Given the description of an element on the screen output the (x, y) to click on. 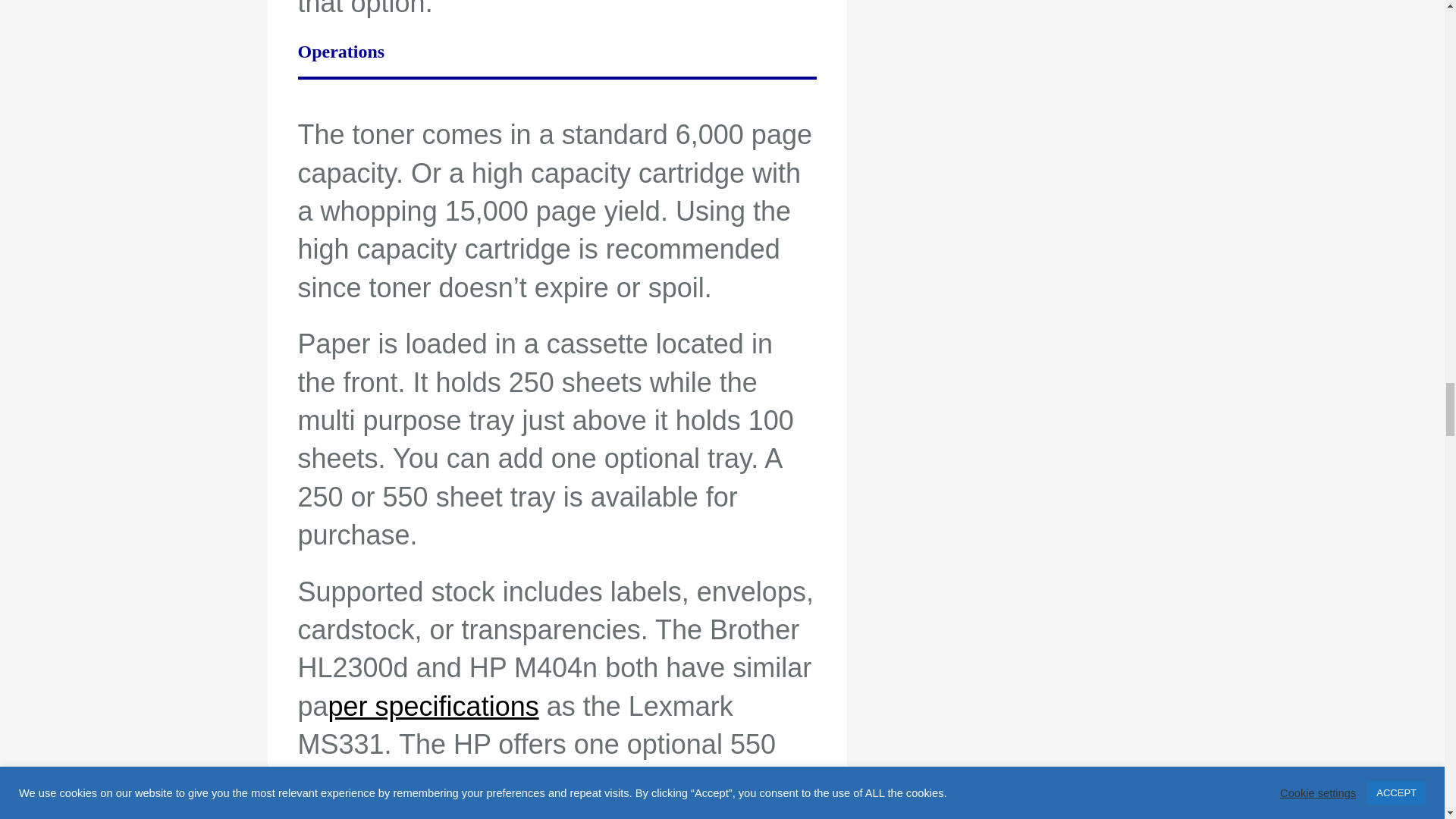
per specifications (433, 706)
